Given the description of an element on the screen output the (x, y) to click on. 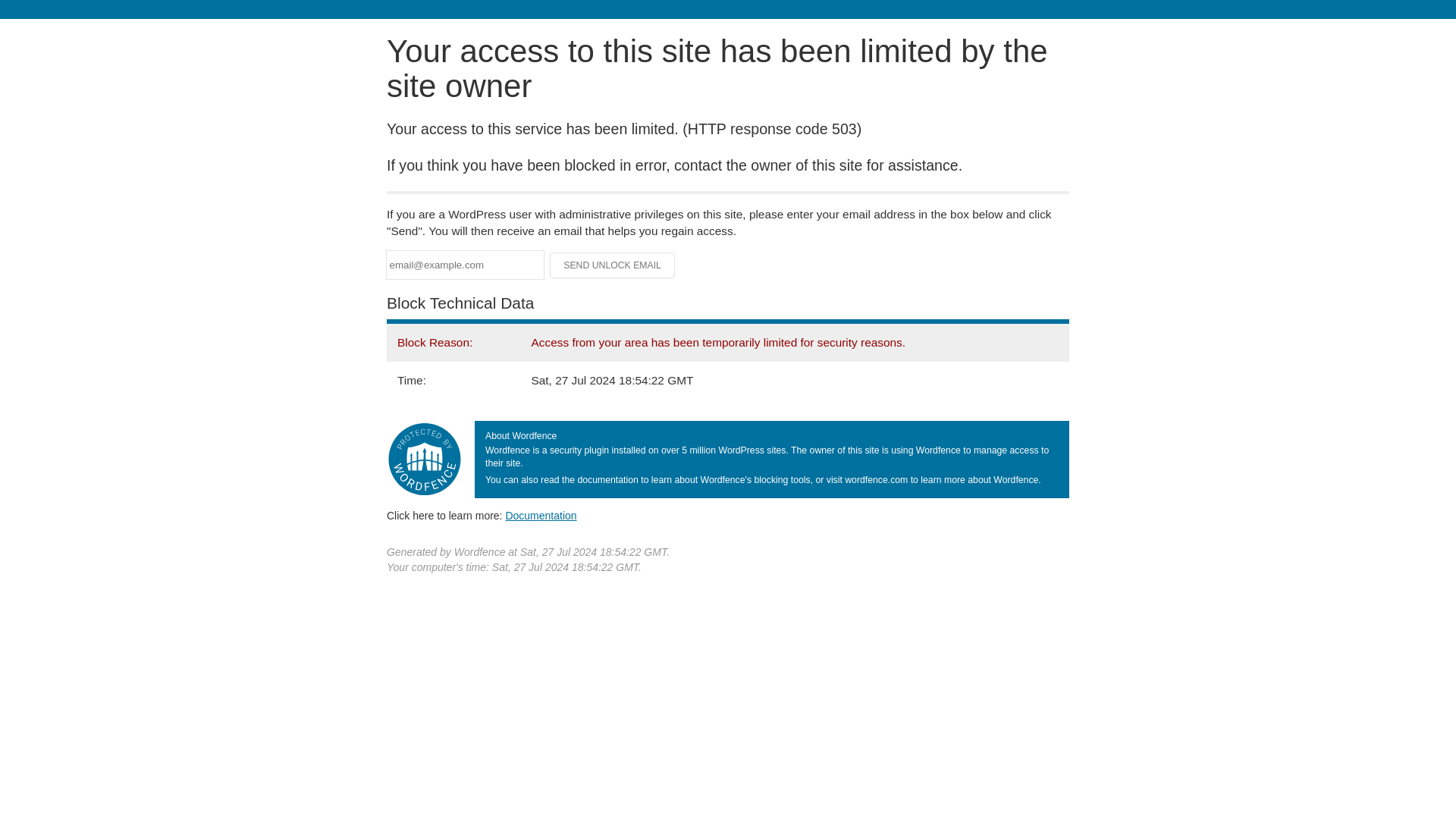
Send Unlock Email (612, 265)
Documentation (540, 515)
Send Unlock Email (612, 265)
